Given the description of an element on the screen output the (x, y) to click on. 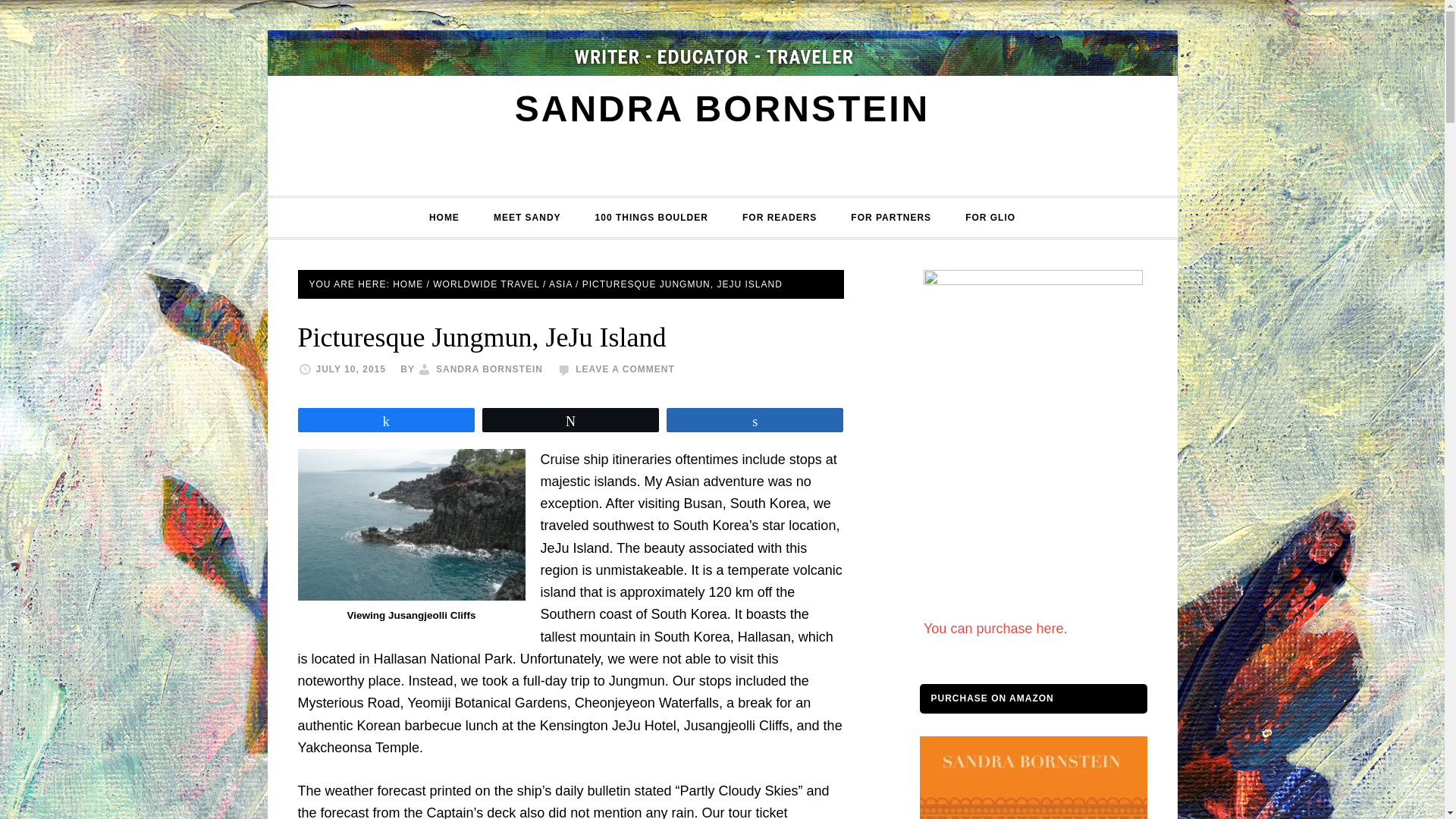
100 THINGS BOULDER (651, 217)
WORLDWIDE TRAVEL (485, 284)
SANDRA BORNSTEIN (722, 108)
LEAVE A COMMENT (625, 368)
HOME (443, 217)
ASIA (560, 284)
SANDRA BORNSTEIN (489, 368)
FOR READERS (778, 217)
MEET SANDY (527, 217)
FOR GLIO (990, 217)
